Given the description of an element on the screen output the (x, y) to click on. 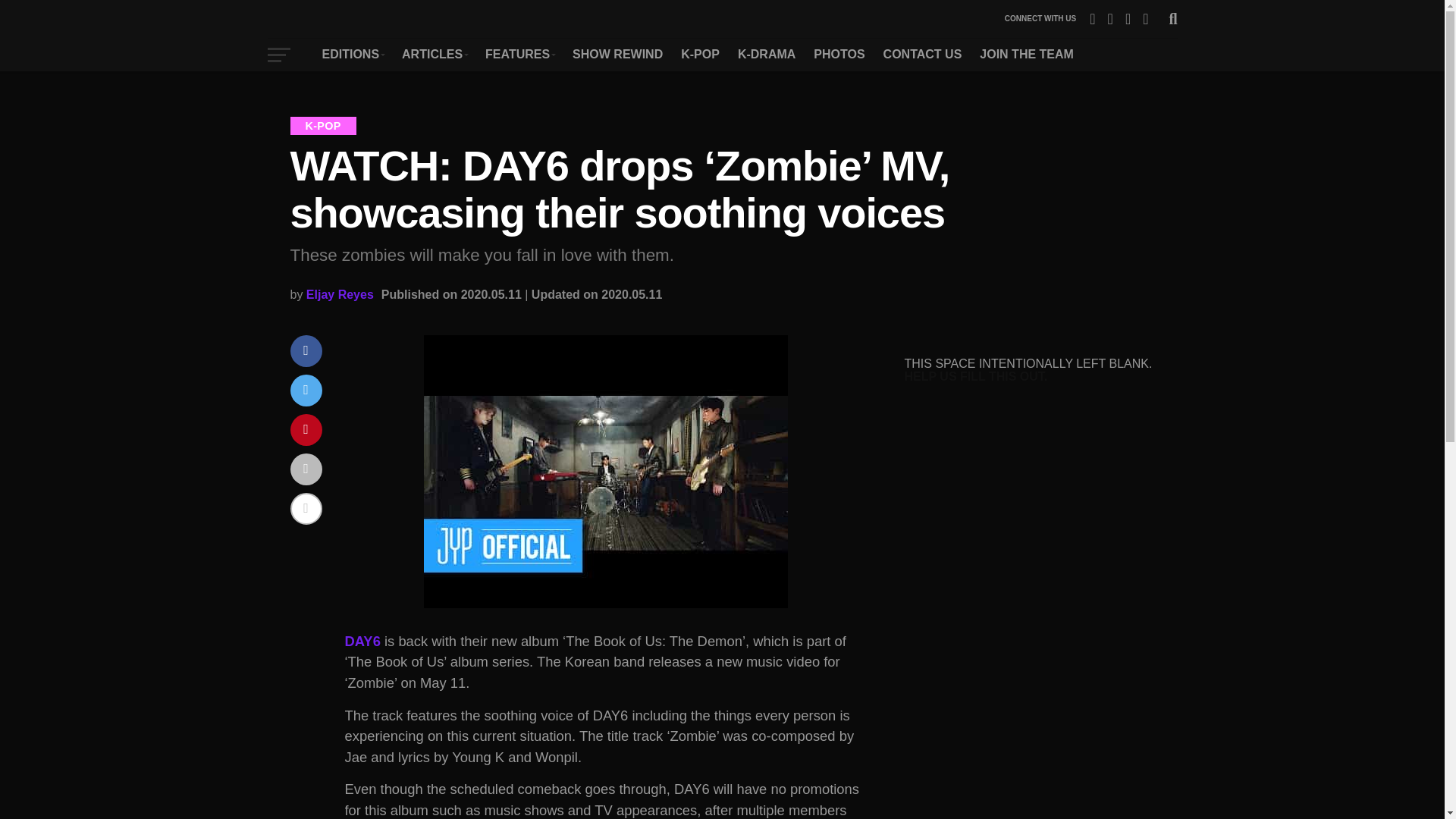
EDITIONS (353, 54)
Posts by Eljay Reyes (339, 294)
